Given the description of an element on the screen output the (x, y) to click on. 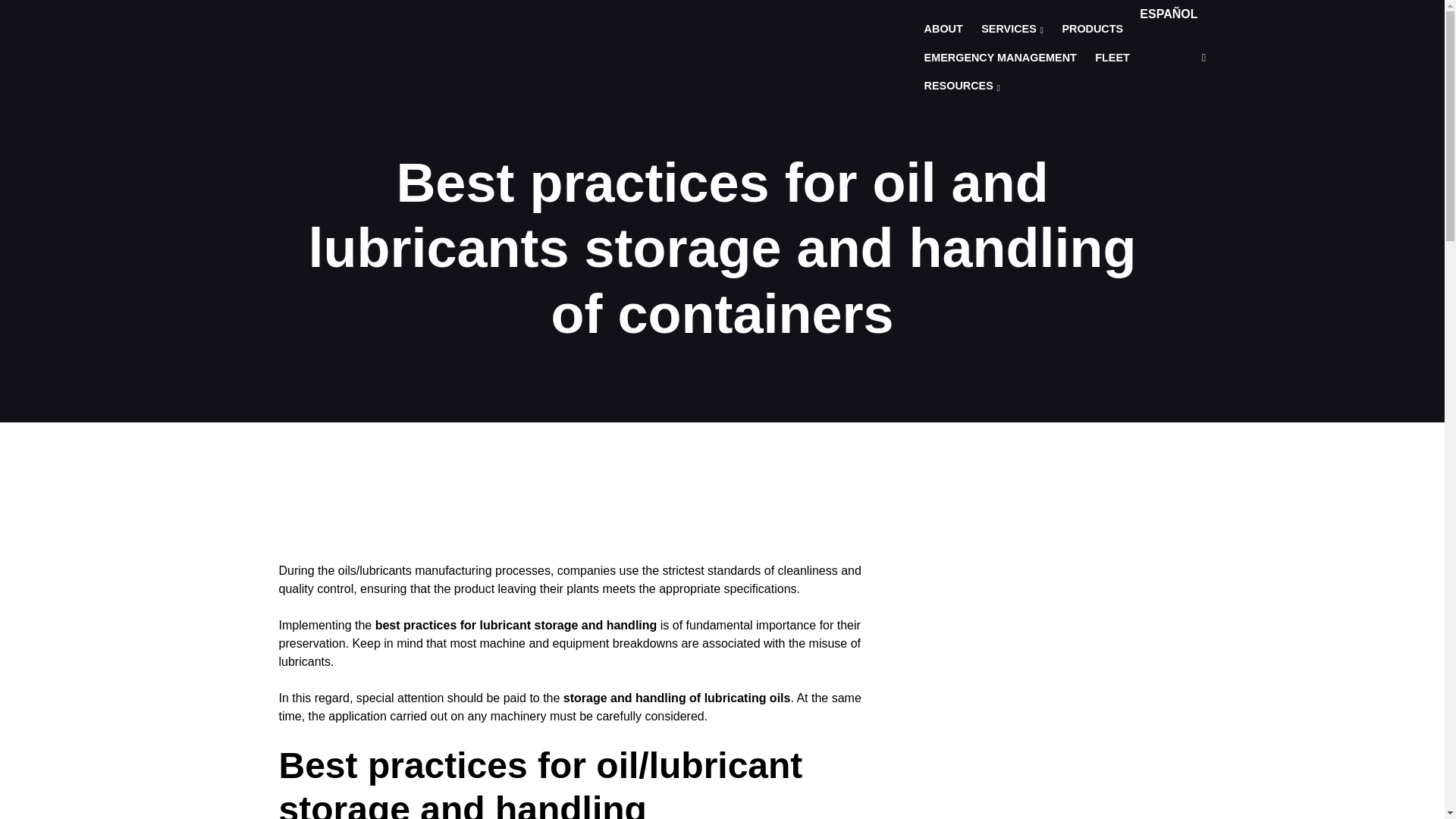
SERVICES (1012, 29)
ABOUT (944, 29)
PRODUCTS (1092, 29)
RESOURCES (962, 86)
FLEET (1112, 58)
EMERGENCY MANAGEMENT (1000, 58)
